Given the description of an element on the screen output the (x, y) to click on. 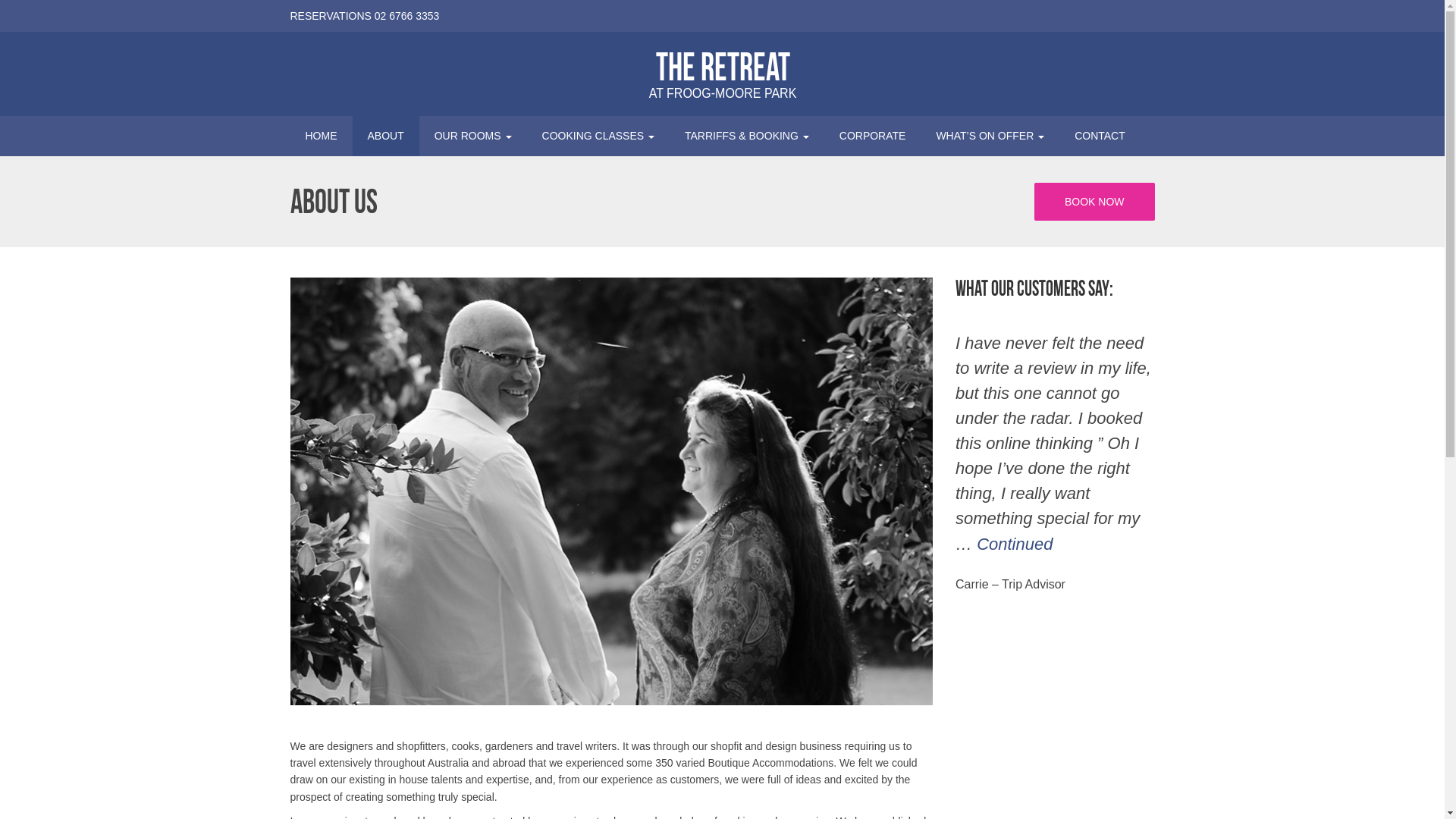
Continued Element type: text (1014, 543)
THE RETREAT
AT FROOG-MOORE PARK Element type: text (721, 70)
ABOUT Element type: text (384, 135)
CORPORATE Element type: text (872, 135)
BOOK NOW Element type: text (1094, 201)
HOME Element type: text (320, 135)
TARRIFFS & BOOKING Element type: text (746, 135)
OUR ROOMS Element type: text (473, 135)
CONTACT Element type: text (1099, 135)
COOKING CLASSES Element type: text (598, 135)
